Given the description of an element on the screen output the (x, y) to click on. 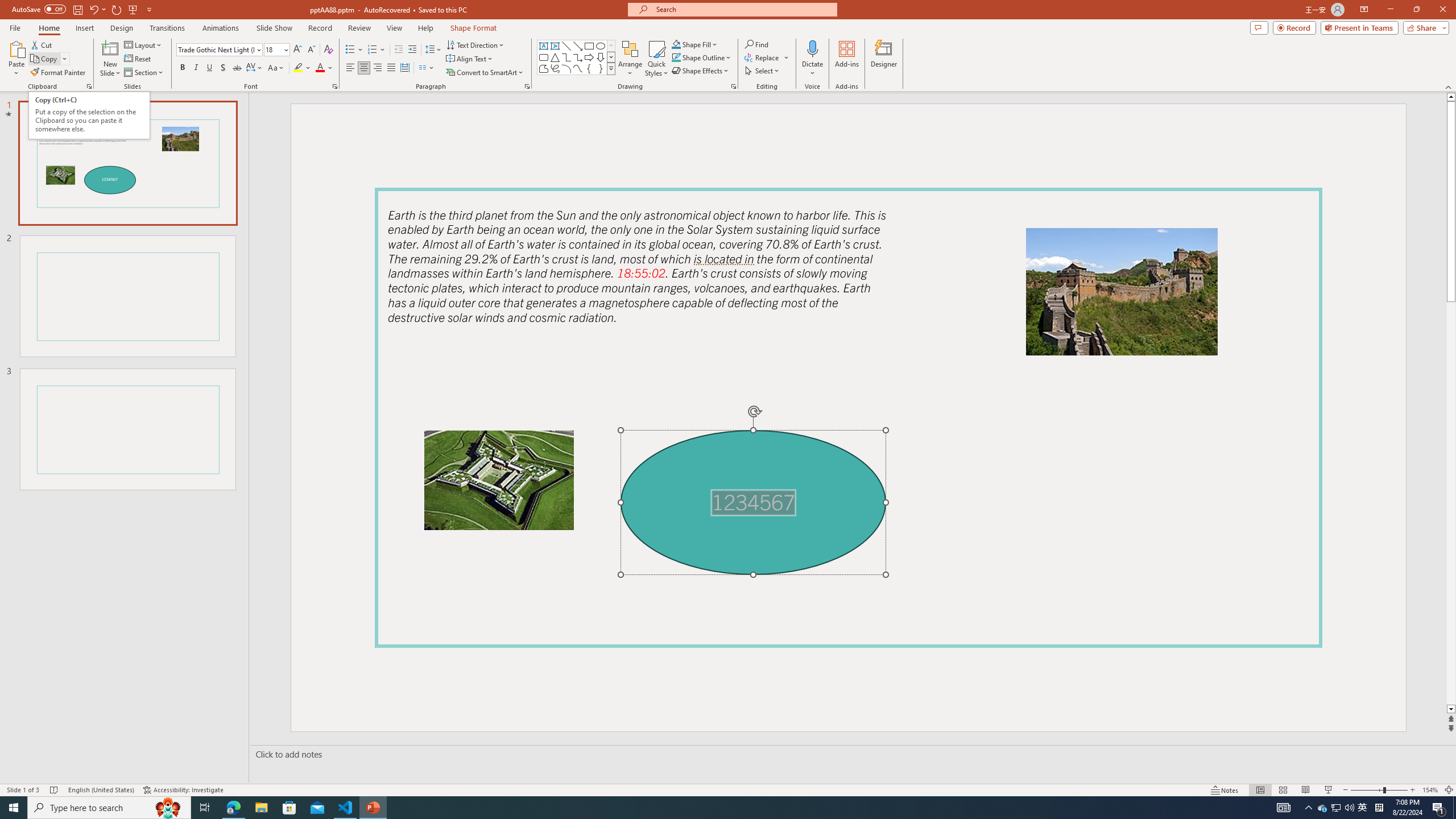
Shape Fill Aqua, Accent 2 (675, 44)
